Given the description of an element on the screen output the (x, y) to click on. 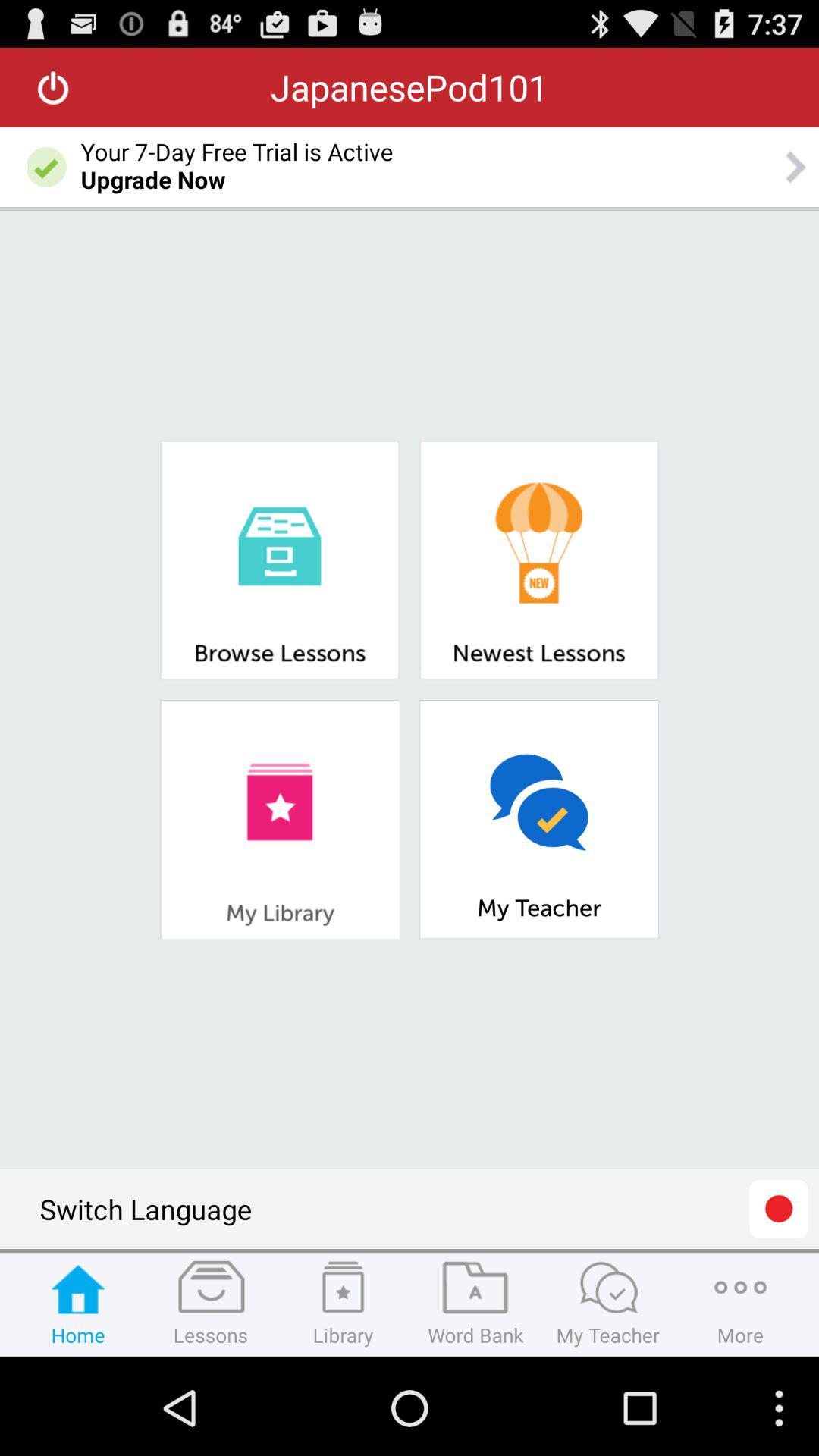
launch app next to japanesepod101 (53, 87)
